Given the description of an element on the screen output the (x, y) to click on. 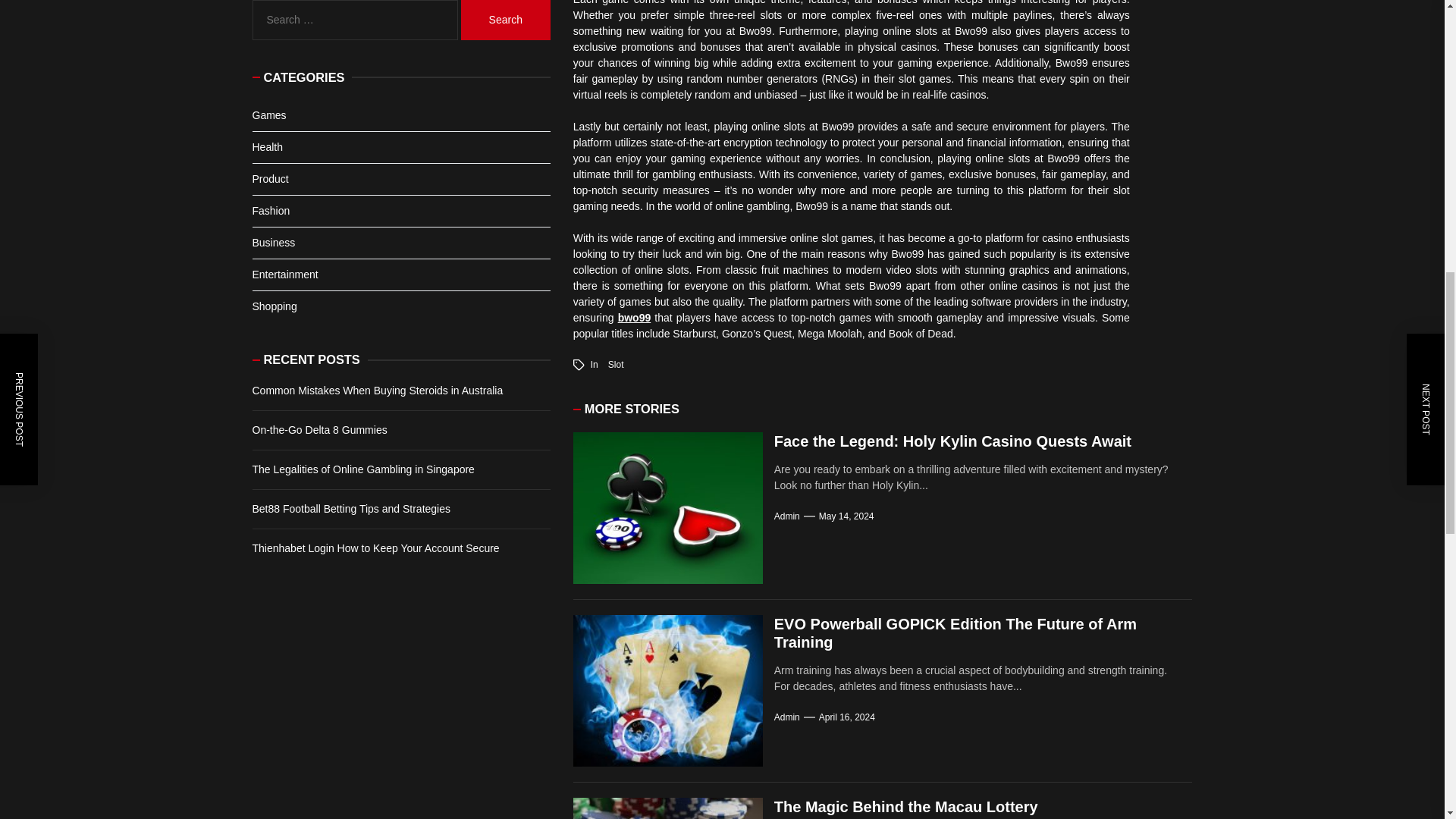
bwo99 (633, 317)
Admin (786, 516)
Face the Legend: Holy Kylin Casino Quests Await (952, 441)
Slot (616, 364)
